Given the description of an element on the screen output the (x, y) to click on. 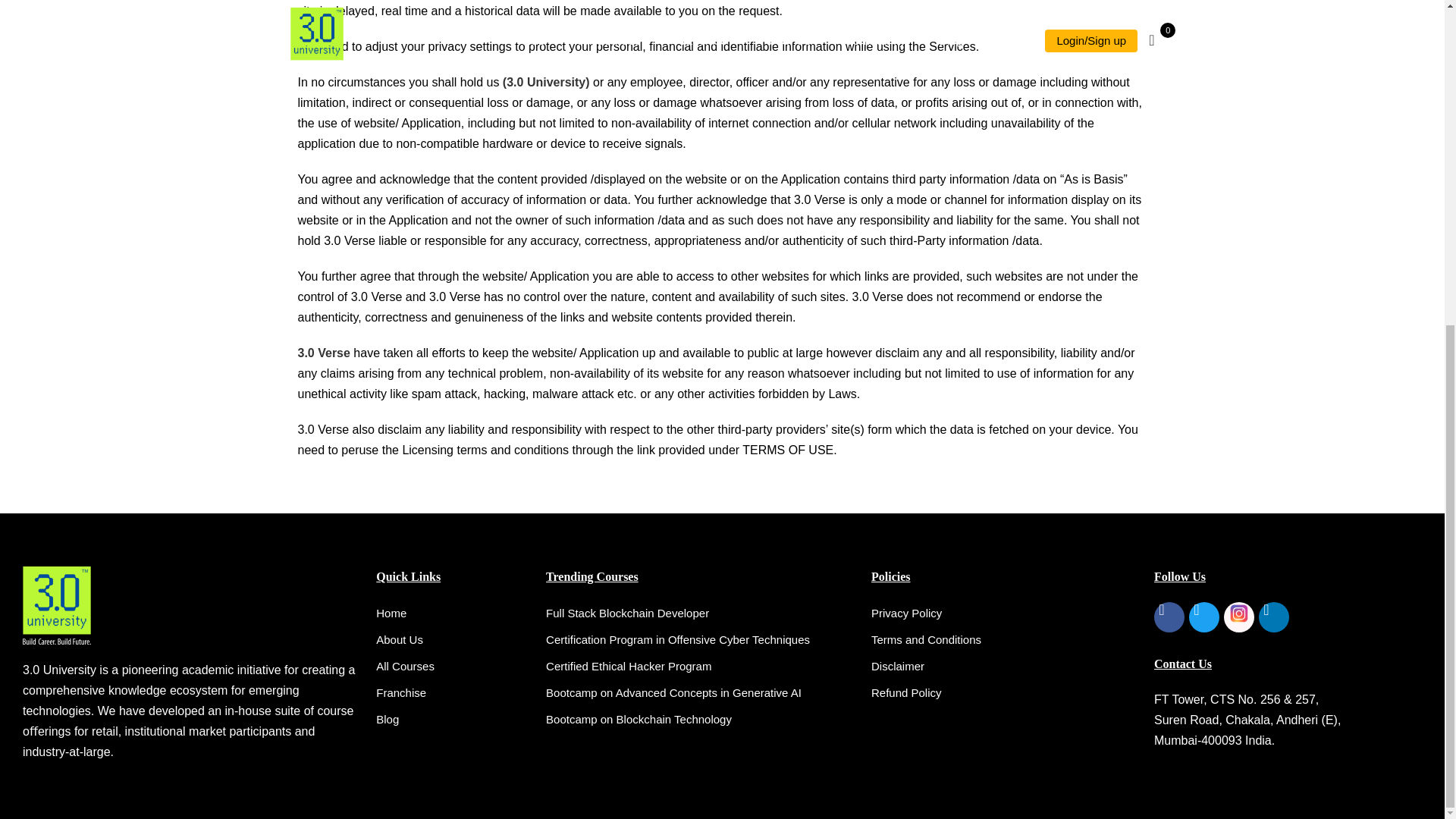
Bootcamp on Blockchain Technology (701, 719)
3.0 Verse (323, 352)
Refund Policy (1004, 692)
All Courses (453, 666)
Home (453, 612)
Blog (453, 719)
Franchise (453, 692)
Disclaimer (1004, 666)
Certified Ethical Hacker Program (701, 666)
About Us (453, 639)
Full Stack Blockchain Developer (701, 612)
Terms and Conditions (1004, 639)
Privacy Policy (1004, 612)
Certification Program in Offensive Cyber Techniques (701, 639)
Bootcamp on Advanced Concepts in Generative AI (701, 692)
